Given the description of an element on the screen output the (x, y) to click on. 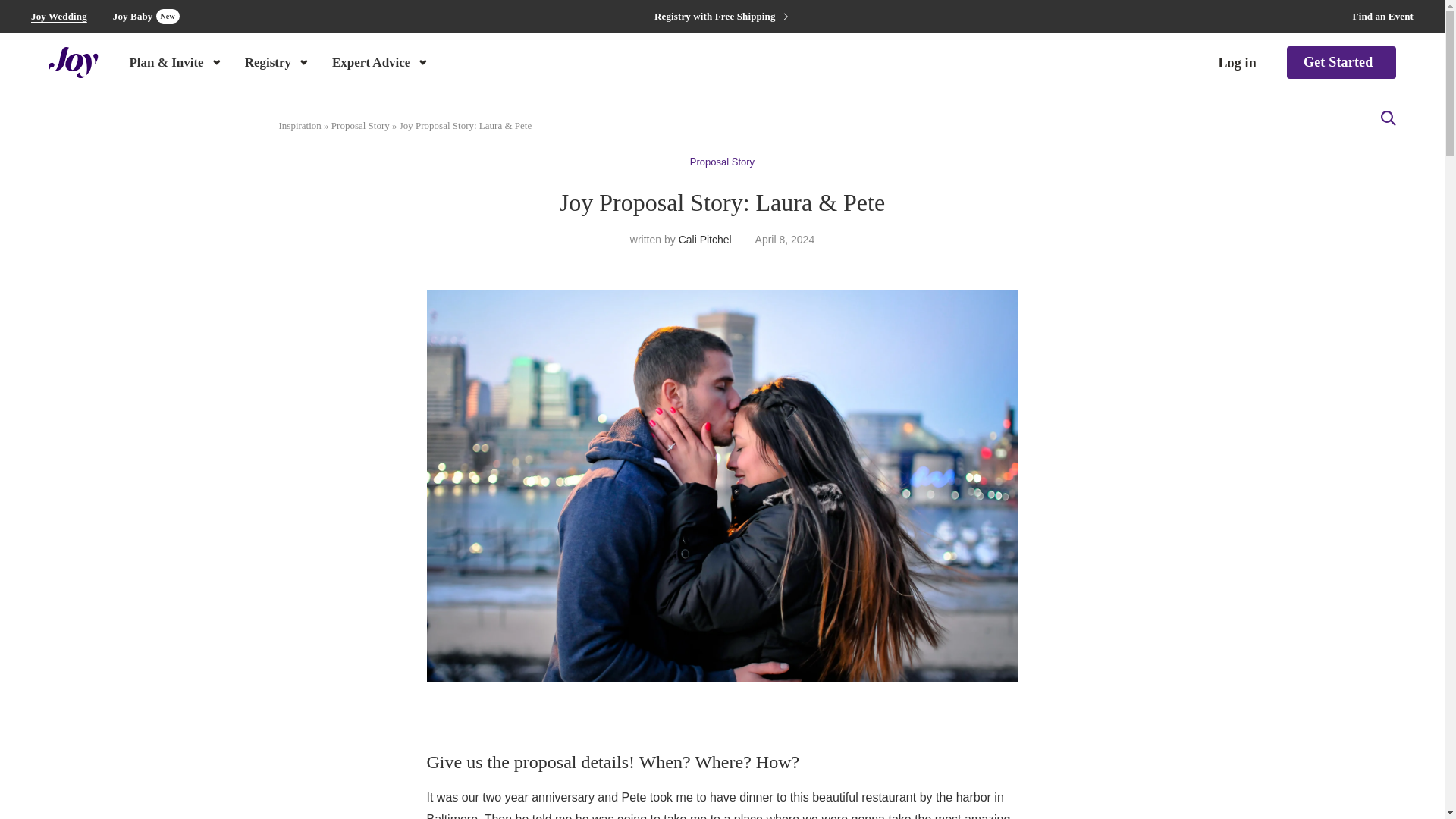
Get Started (1341, 61)
Find an Event (1382, 16)
Find an Event (1382, 16)
Joy Wedding (58, 16)
Expert Advice (380, 61)
Registry (146, 16)
Log in (277, 61)
